Given the description of an element on the screen output the (x, y) to click on. 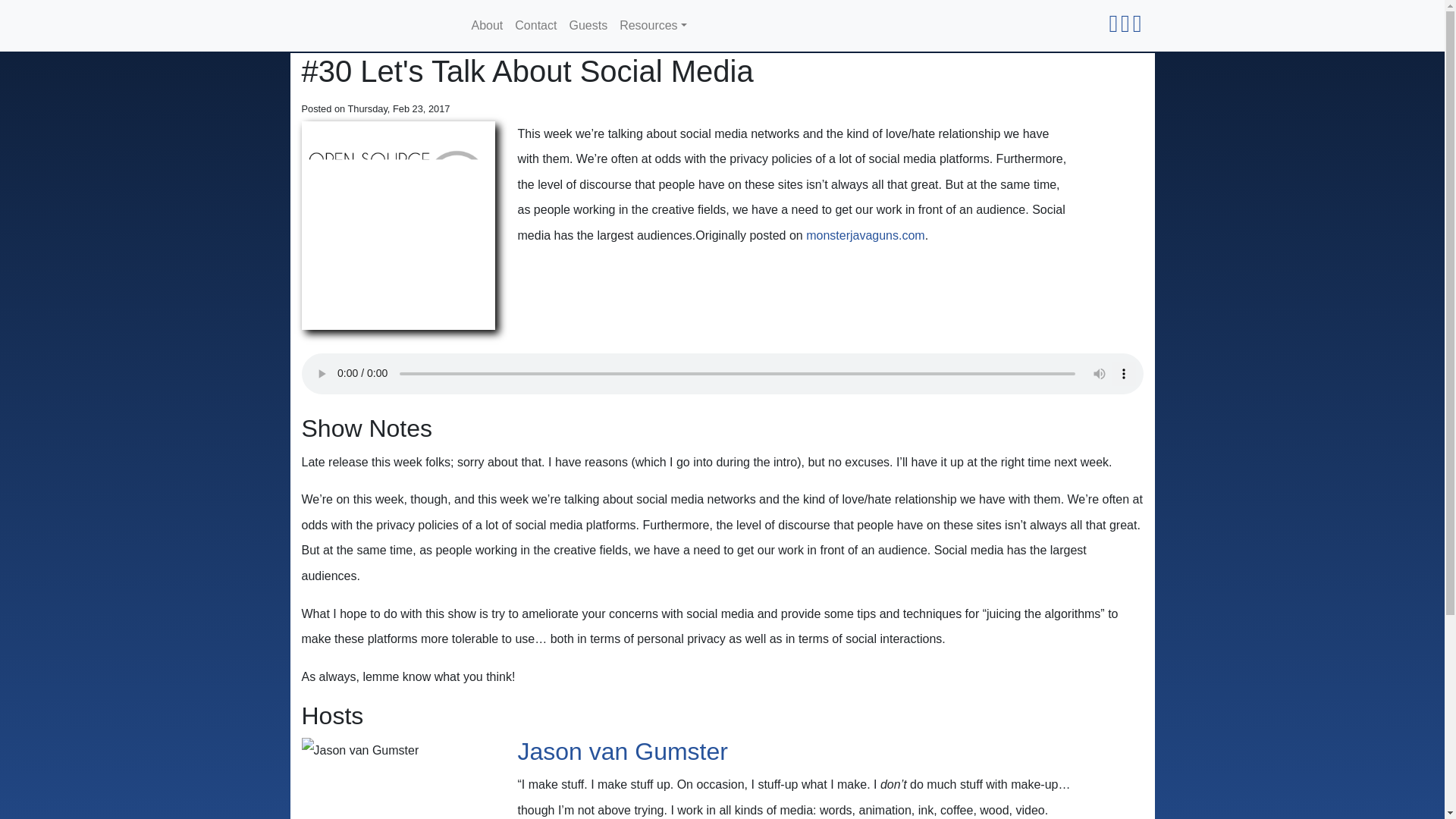
Contact (535, 25)
monsterjavaguns.com (865, 235)
Jason van Gumster (621, 750)
Guests (587, 25)
About (487, 25)
Resources (652, 25)
Open Source Creative (376, 25)
